Given the description of an element on the screen output the (x, y) to click on. 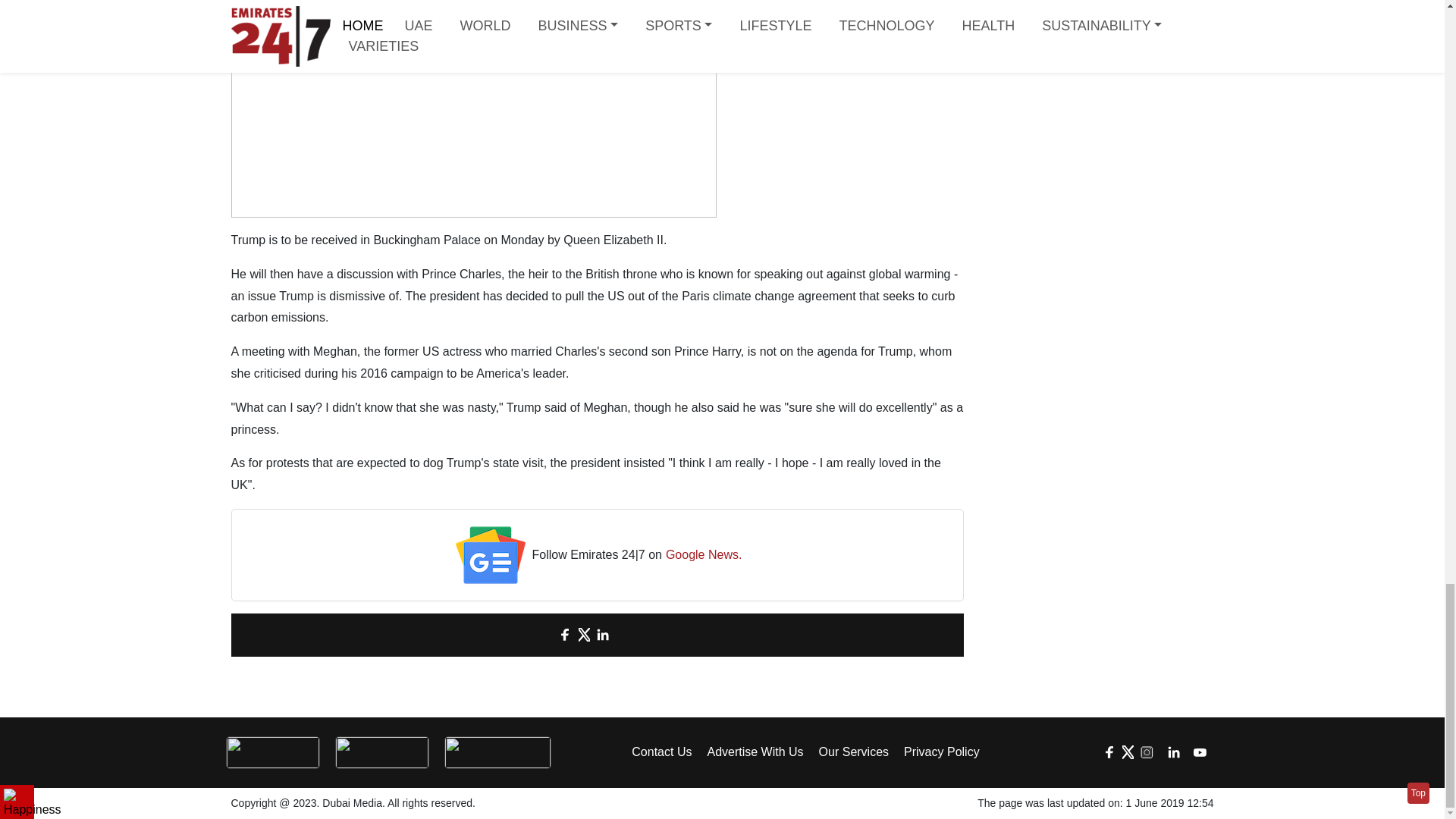
Google News. (703, 555)
